Given the description of an element on the screen output the (x, y) to click on. 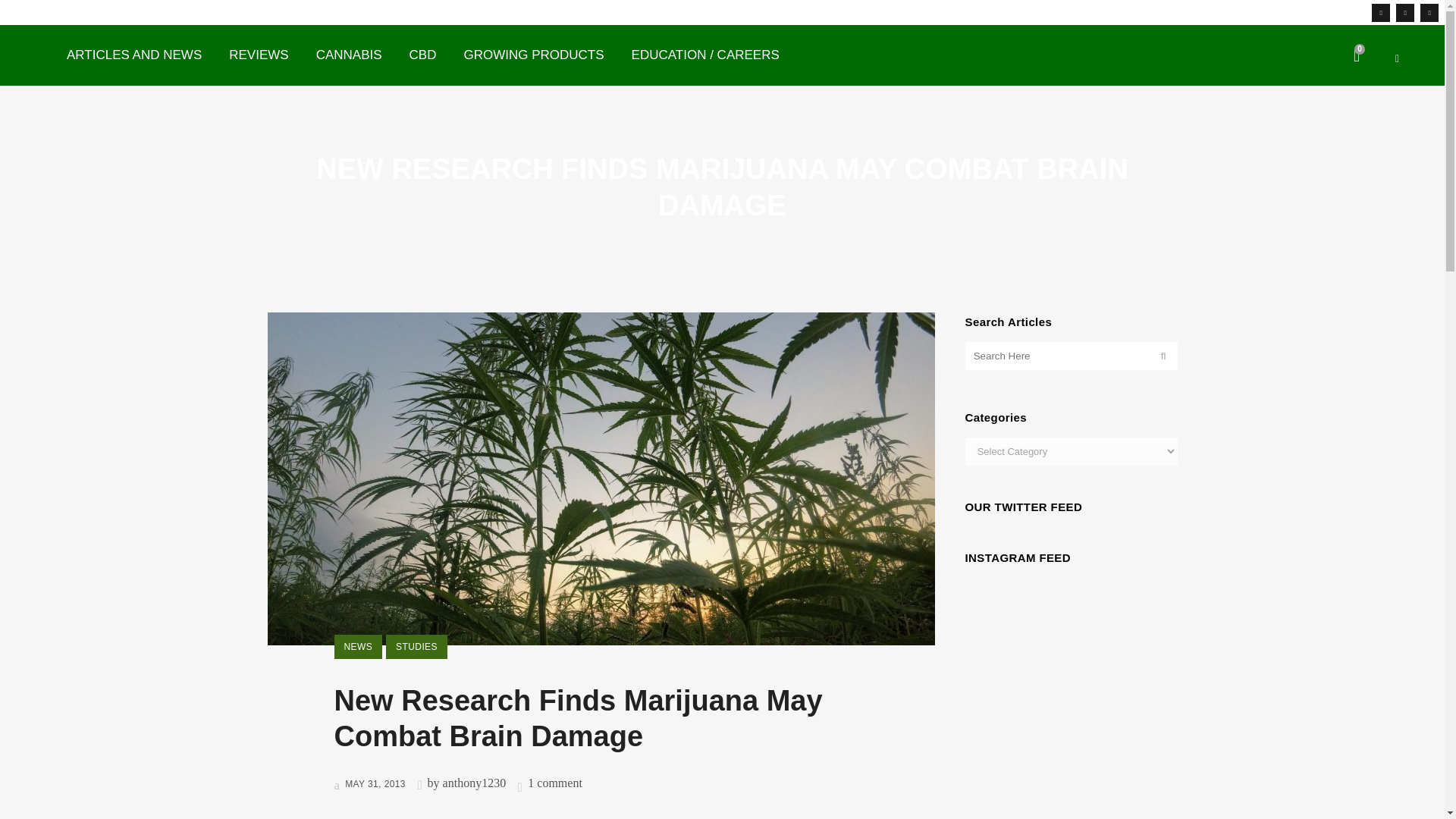
GROWING PRODUCTS (533, 55)
NEWS (357, 646)
CANNABIS (349, 55)
STUDIES (415, 646)
1 comment (554, 782)
MAY 31, 2013 (368, 783)
CBD (422, 55)
ARTICLES AND NEWS (133, 55)
REVIEWS (258, 55)
anthony1230 (474, 782)
